Given the description of an element on the screen output the (x, y) to click on. 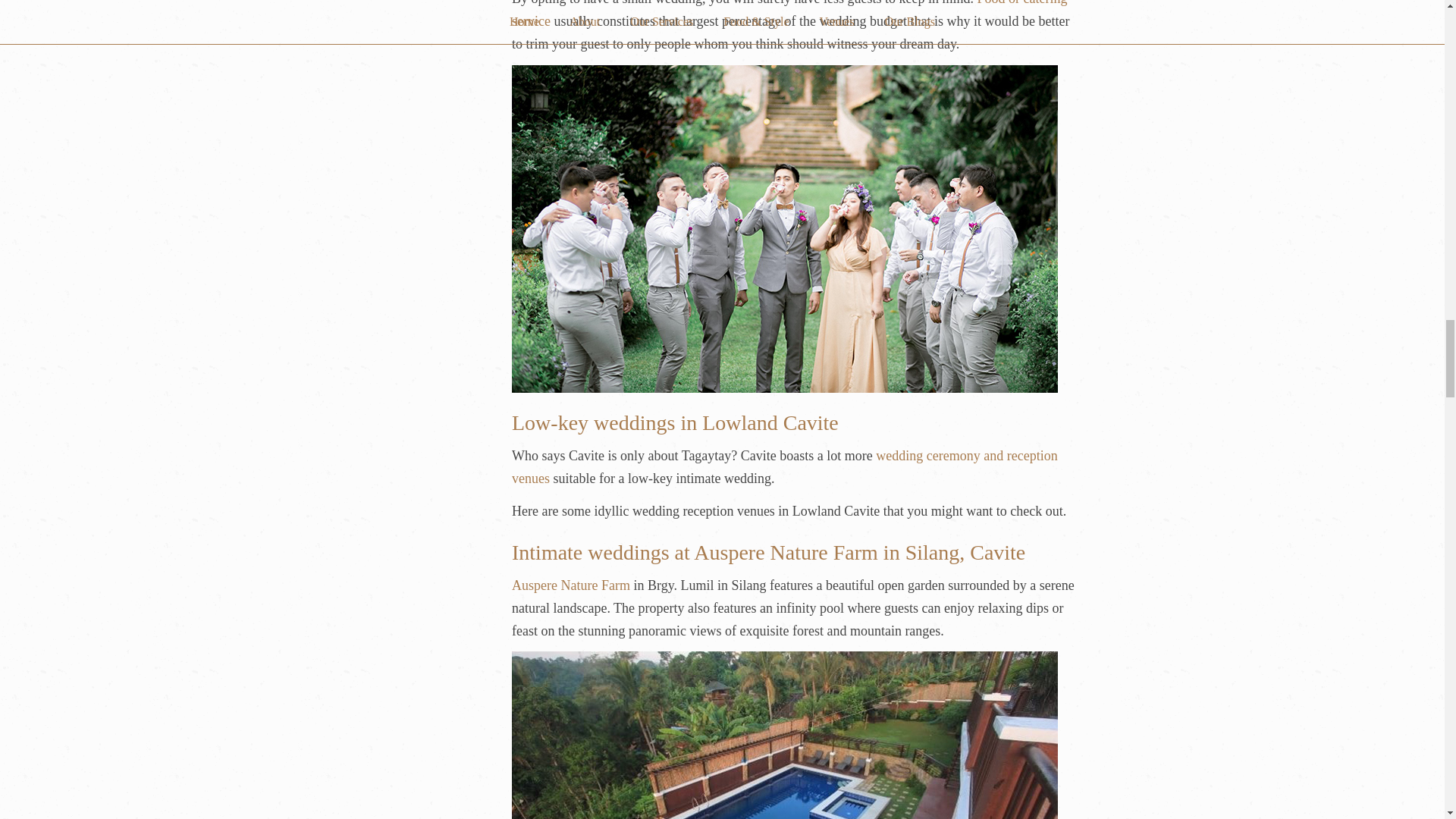
Low-key weddings in Lowland Cavite (675, 422)
Intimate weddings at Auspere Nature Farm in Silang, Cavite (768, 552)
Auspere Nature Farm (571, 585)
wedding ceremony and reception venues (785, 466)
Food or catering service (789, 14)
